Given the description of an element on the screen output the (x, y) to click on. 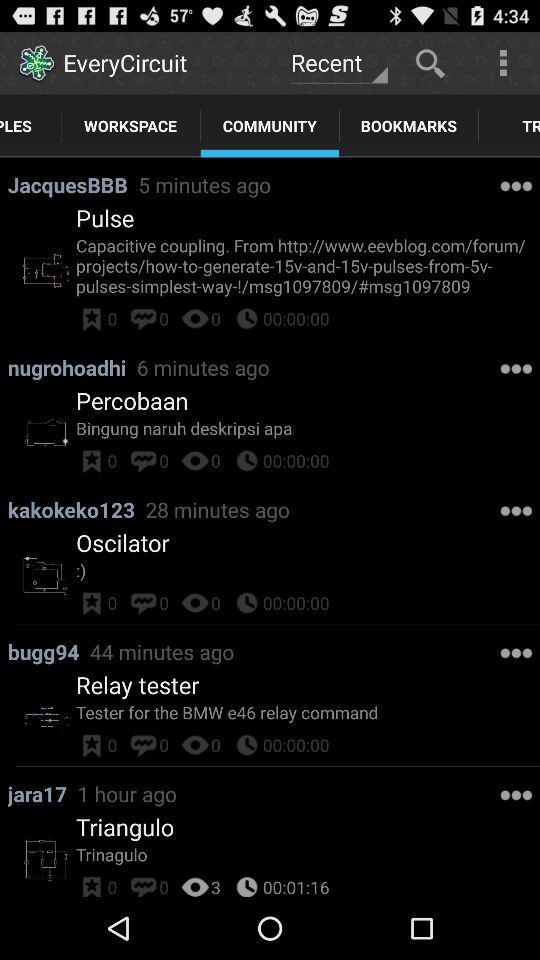
flip to bugg94 item (48, 651)
